Given the description of an element on the screen output the (x, y) to click on. 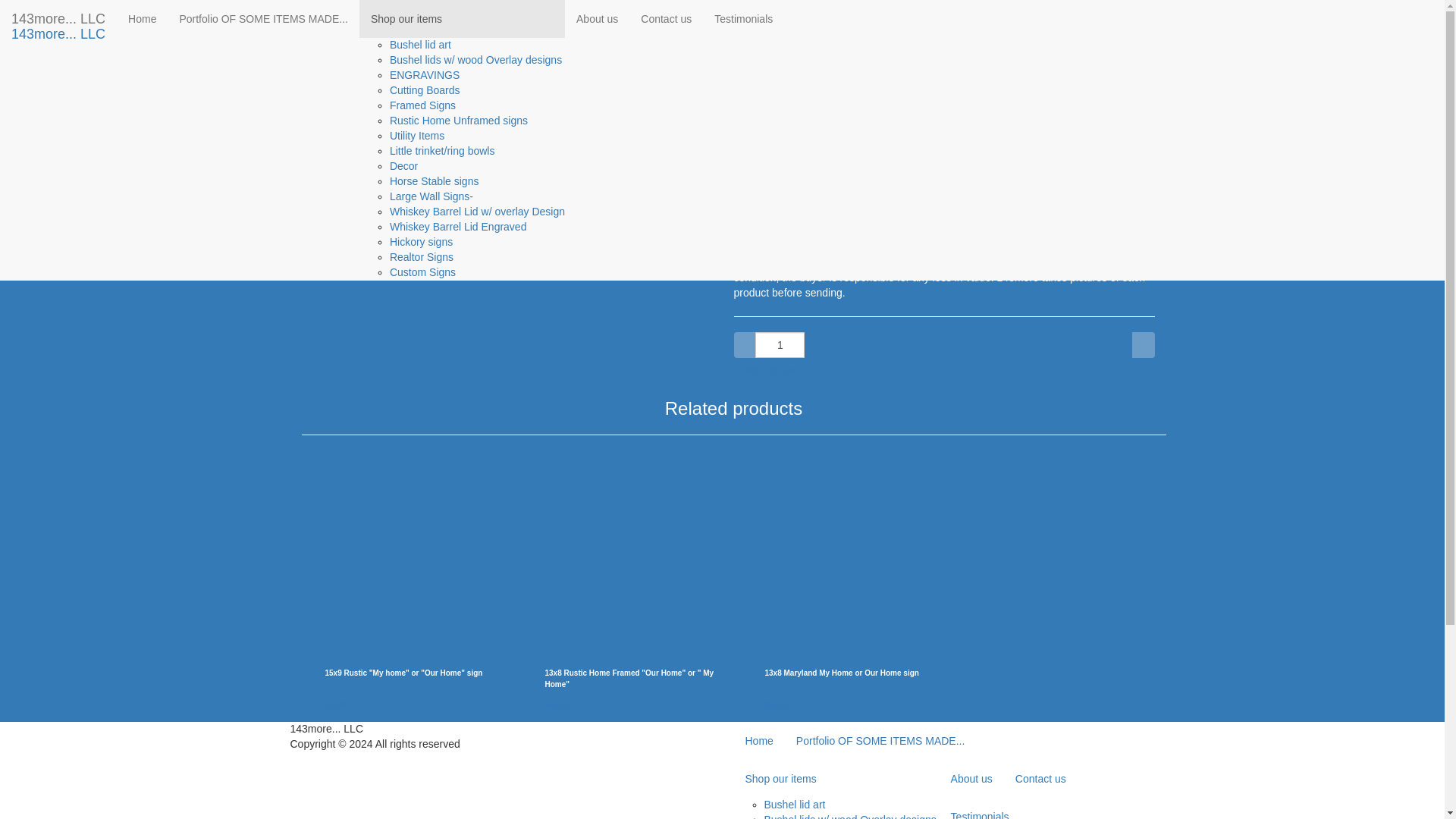
Home (141, 18)
Testimonials (743, 18)
1 (780, 344)
Whiskey Barrel Lid Engraved (458, 226)
Utility Items (417, 135)
143more... LLC (58, 18)
ENGRAVINGS (425, 74)
Large Wall Signs- (431, 196)
Decor (403, 165)
Horse Stable signs (434, 181)
Cutting Boards (425, 90)
Portfolio OF SOME ITEMS MADE... (262, 18)
Framed Signs (422, 105)
Hickory signs (421, 241)
Shop our items   (461, 18)
